Given the description of an element on the screen output the (x, y) to click on. 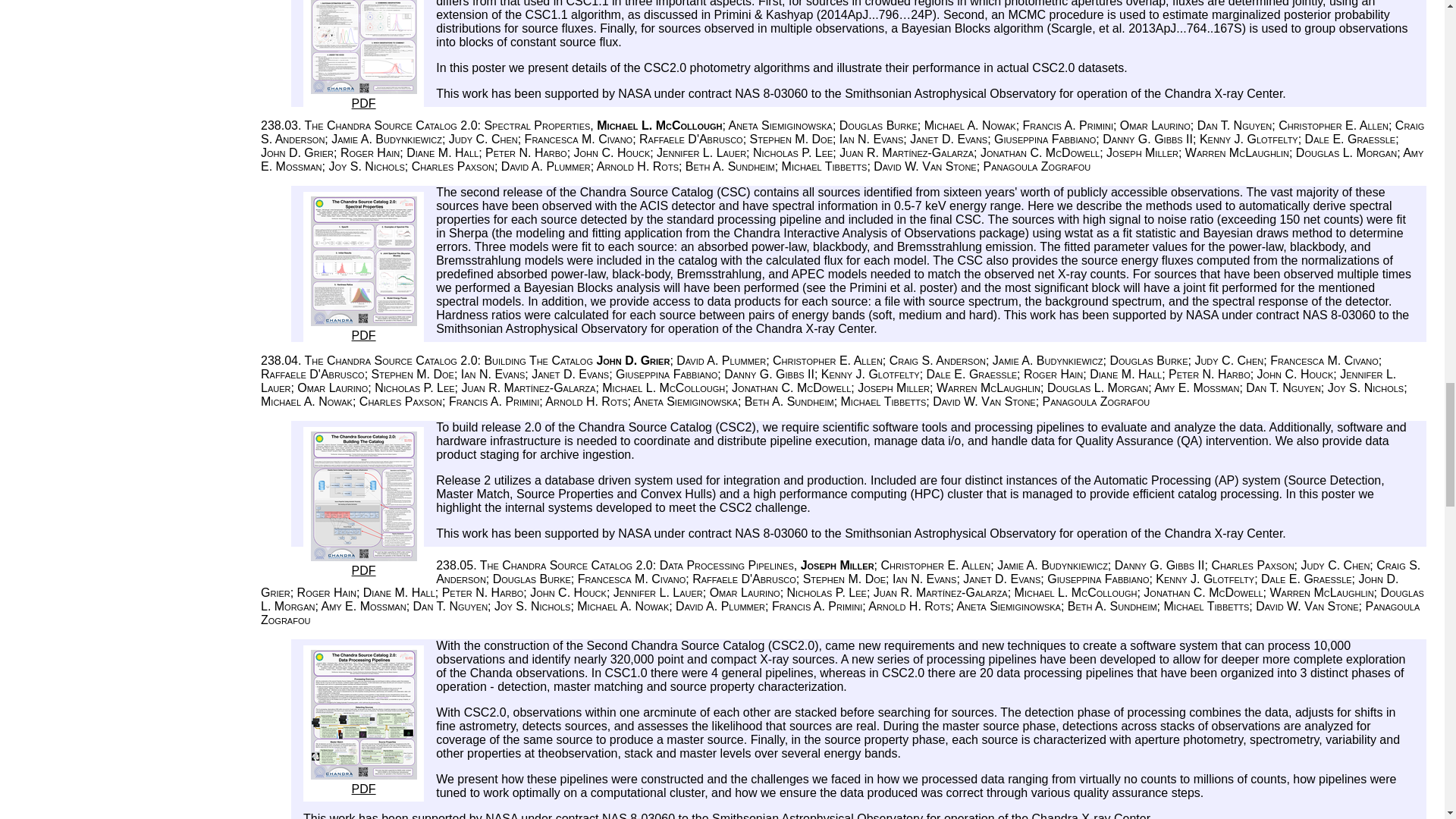
PDF (363, 96)
PDF (363, 563)
PDF (363, 328)
PDF (363, 782)
